Given the description of an element on the screen output the (x, y) to click on. 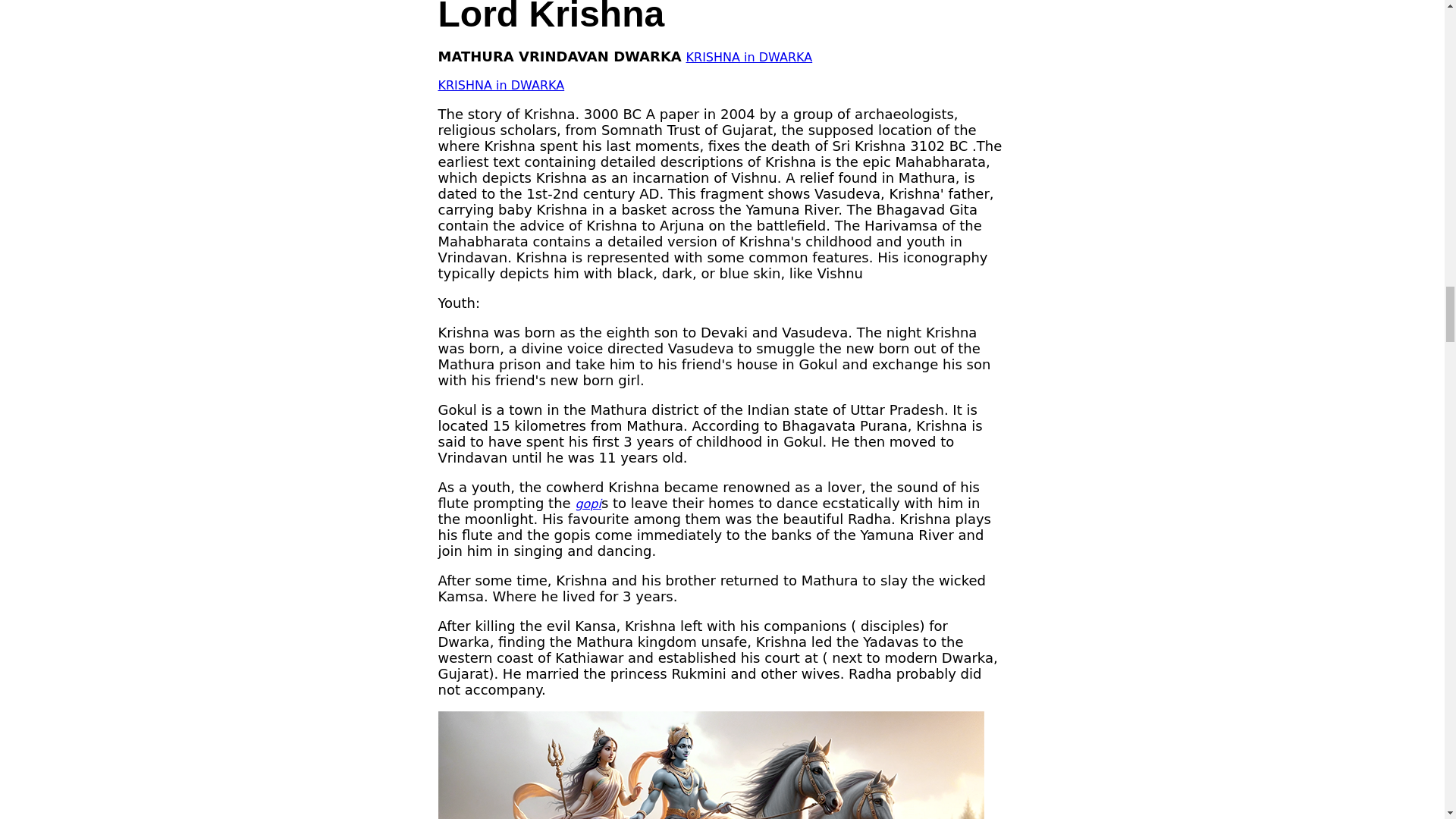
KRISHNA in DWARKA (748, 56)
KRISHNA in DWARKA (501, 84)
gopi (588, 503)
